Given the description of an element on the screen output the (x, y) to click on. 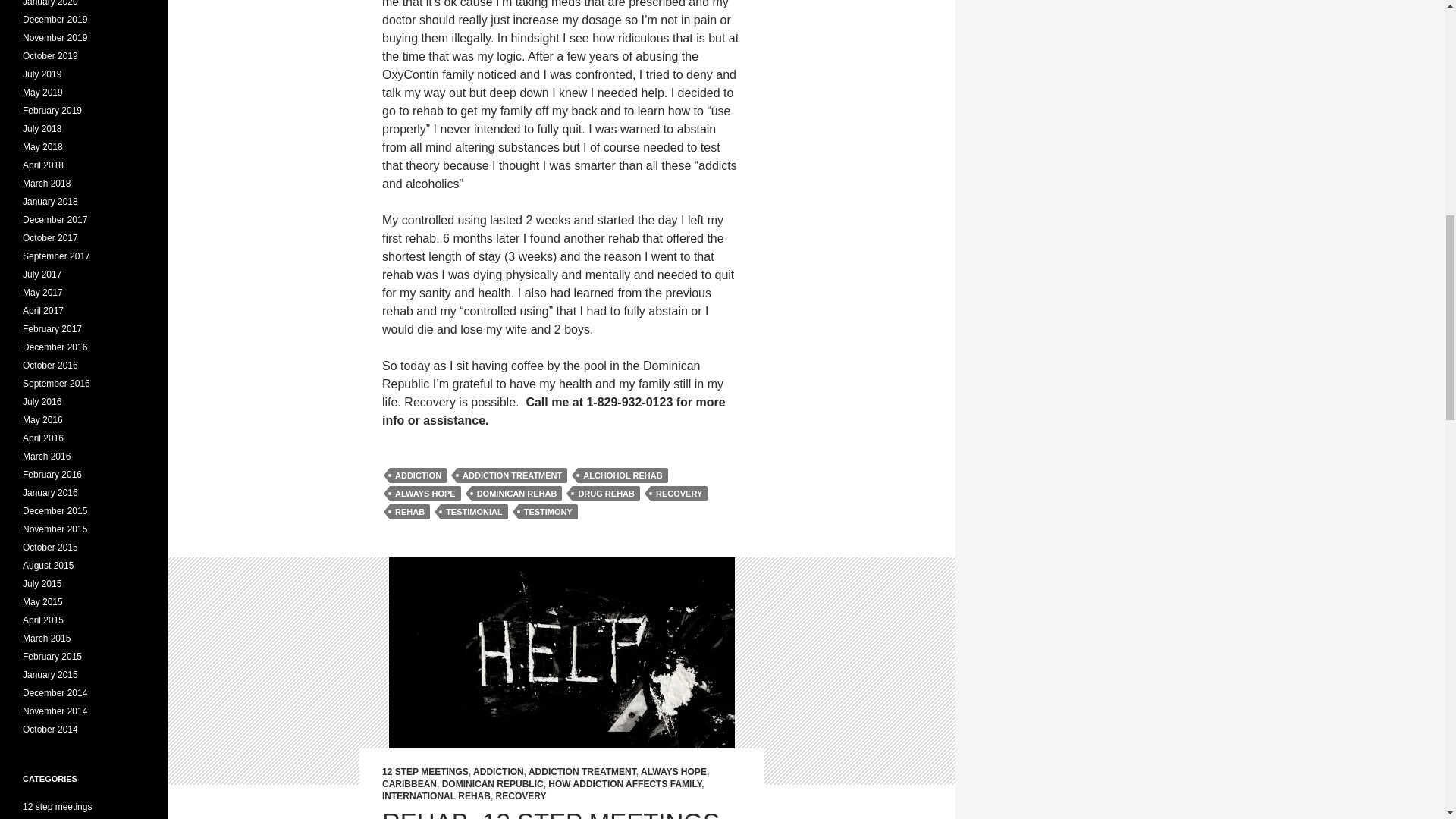
TESTIMONY (548, 511)
ALWAYS HOPE (673, 771)
ADDICTION (498, 771)
CARIBBEAN (408, 783)
ADDICTION TREATMENT (582, 771)
ADDICTION TREATMENT (512, 475)
12 STEP MEETINGS (424, 771)
DOMINICAN REHAB (516, 493)
ALWAYS HOPE (425, 493)
ALCHOHOL REHAB (622, 475)
